Given the description of an element on the screen output the (x, y) to click on. 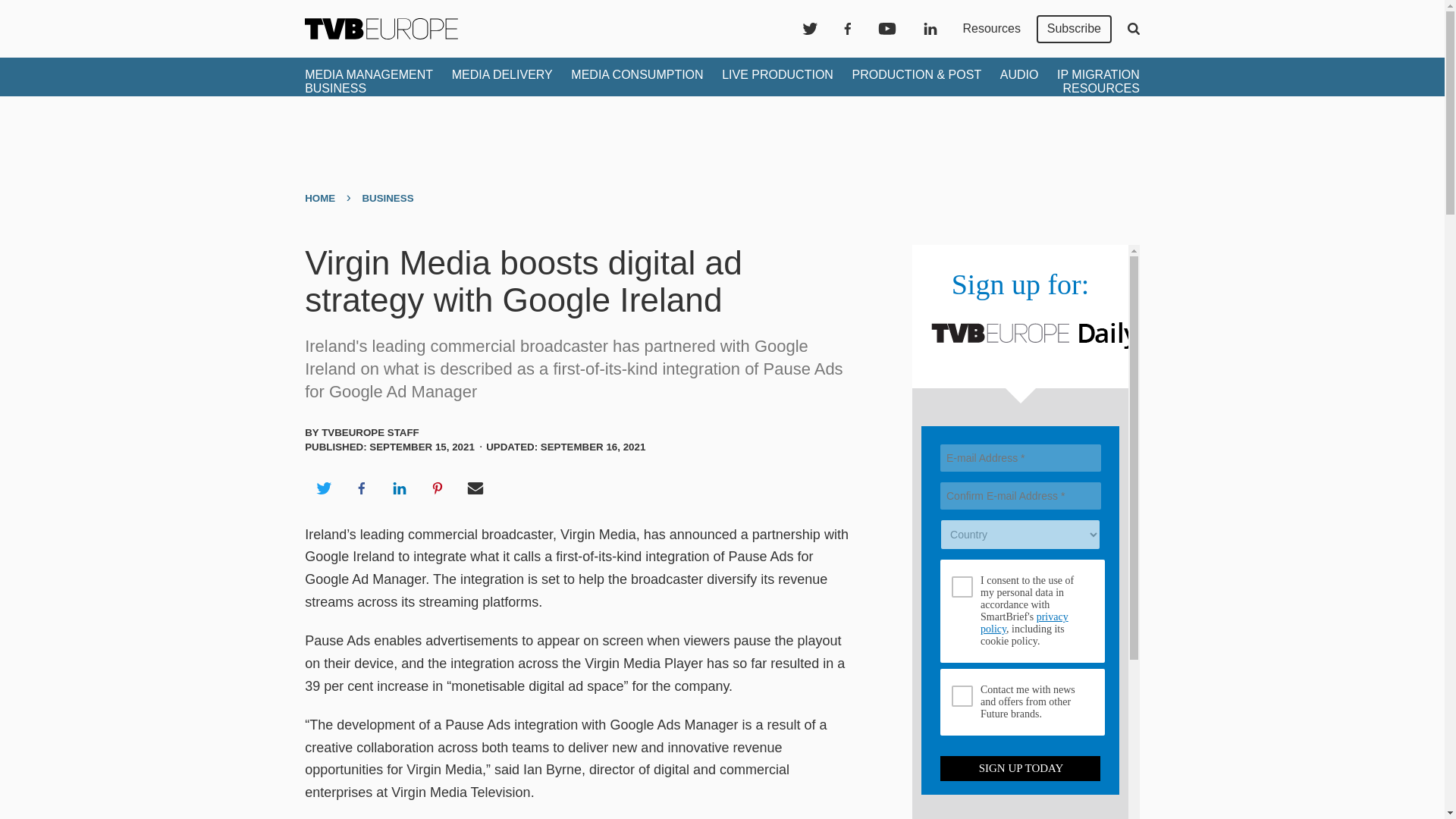
TVBEurope Staff's Author Profile (370, 432)
Share via Email (476, 487)
Share on Twitter (323, 487)
Share on Facebook (361, 487)
Share on LinkedIn (399, 487)
Share on Pinterest (438, 487)
